Given the description of an element on the screen output the (x, y) to click on. 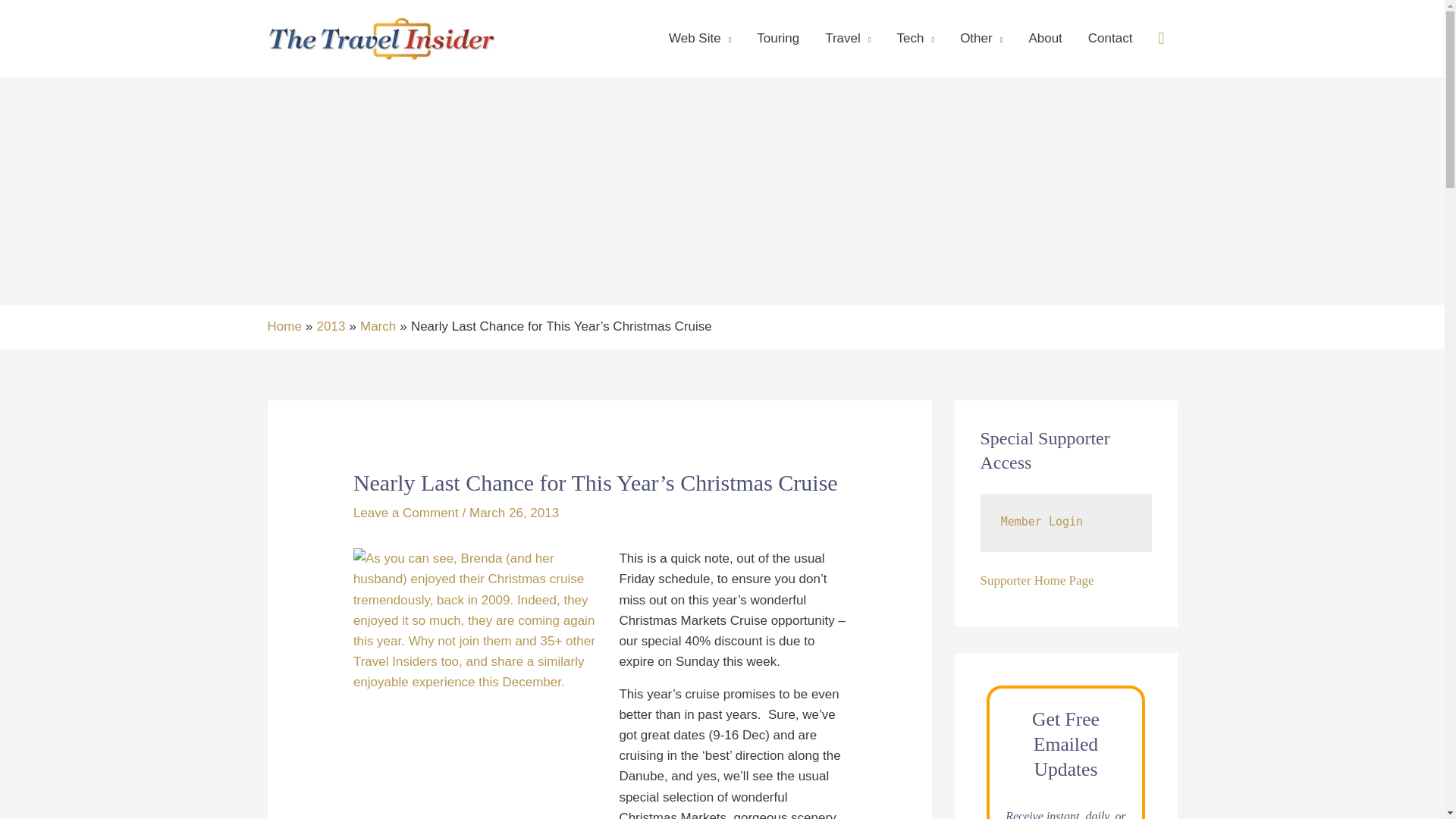
Travel (847, 38)
Web Site (700, 38)
Touring (778, 38)
